Given the description of an element on the screen output the (x, y) to click on. 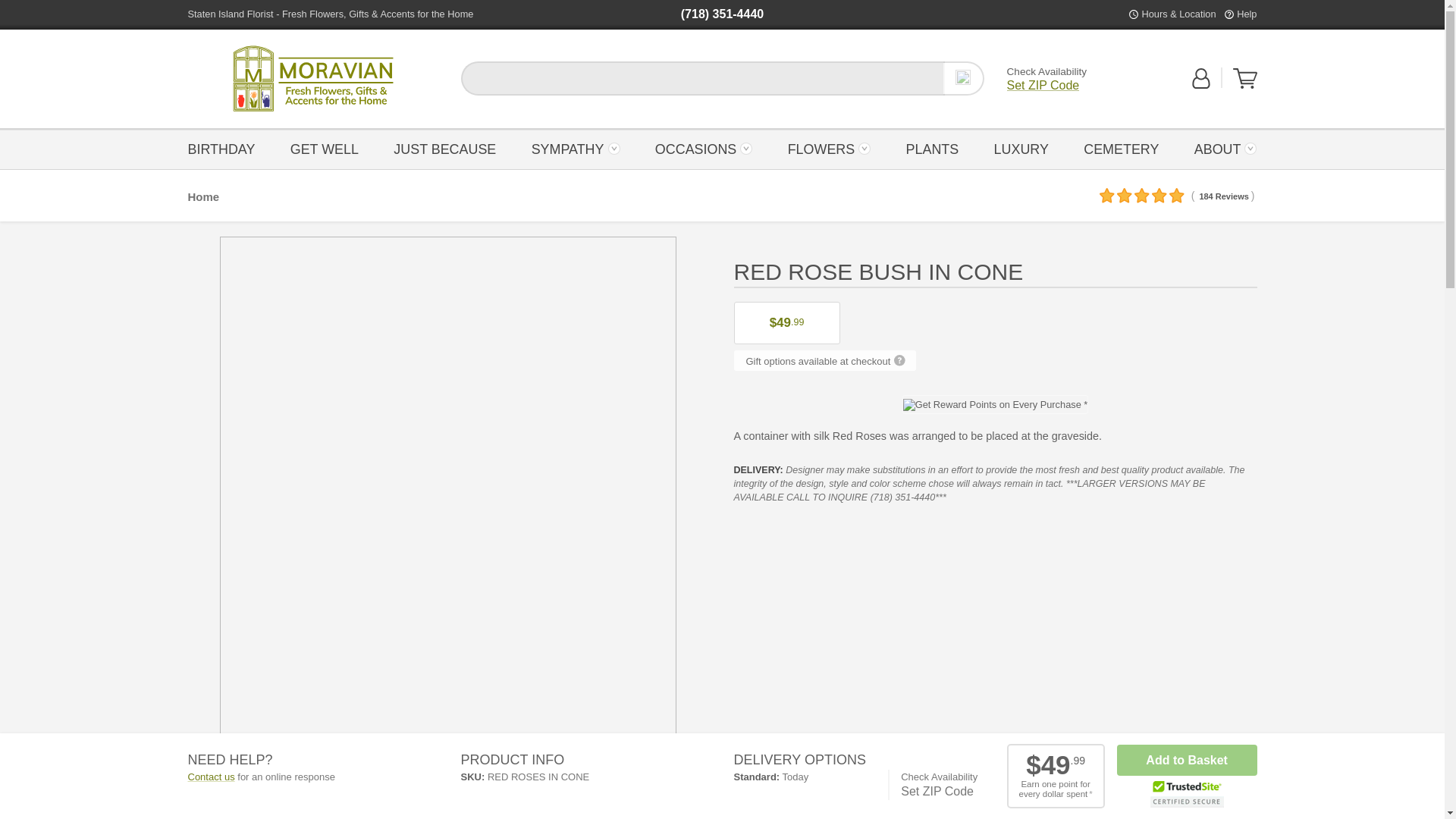
GET WELL (325, 147)
View Your Shopping Cart (1245, 78)
JUST BECAUSE (444, 147)
SYMPATHY (574, 147)
Help (1246, 13)
Search (963, 78)
View Your Shopping Cart (1245, 85)
BIRTHDAY (225, 147)
Back to the Home Page (312, 79)
